Given the description of an element on the screen output the (x, y) to click on. 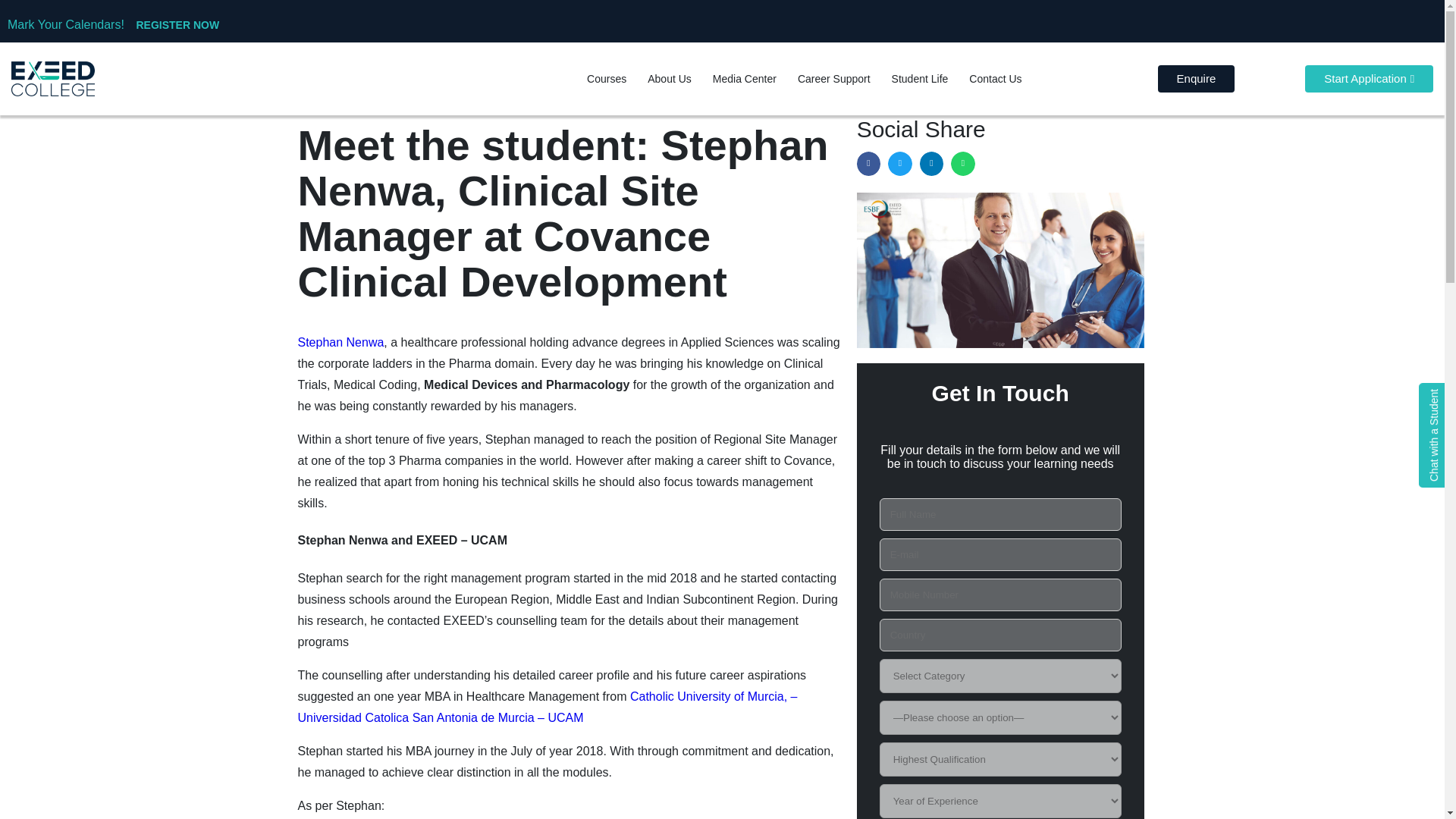
REGISTER NOW (177, 24)
Courses (606, 78)
